Given the description of an element on the screen output the (x, y) to click on. 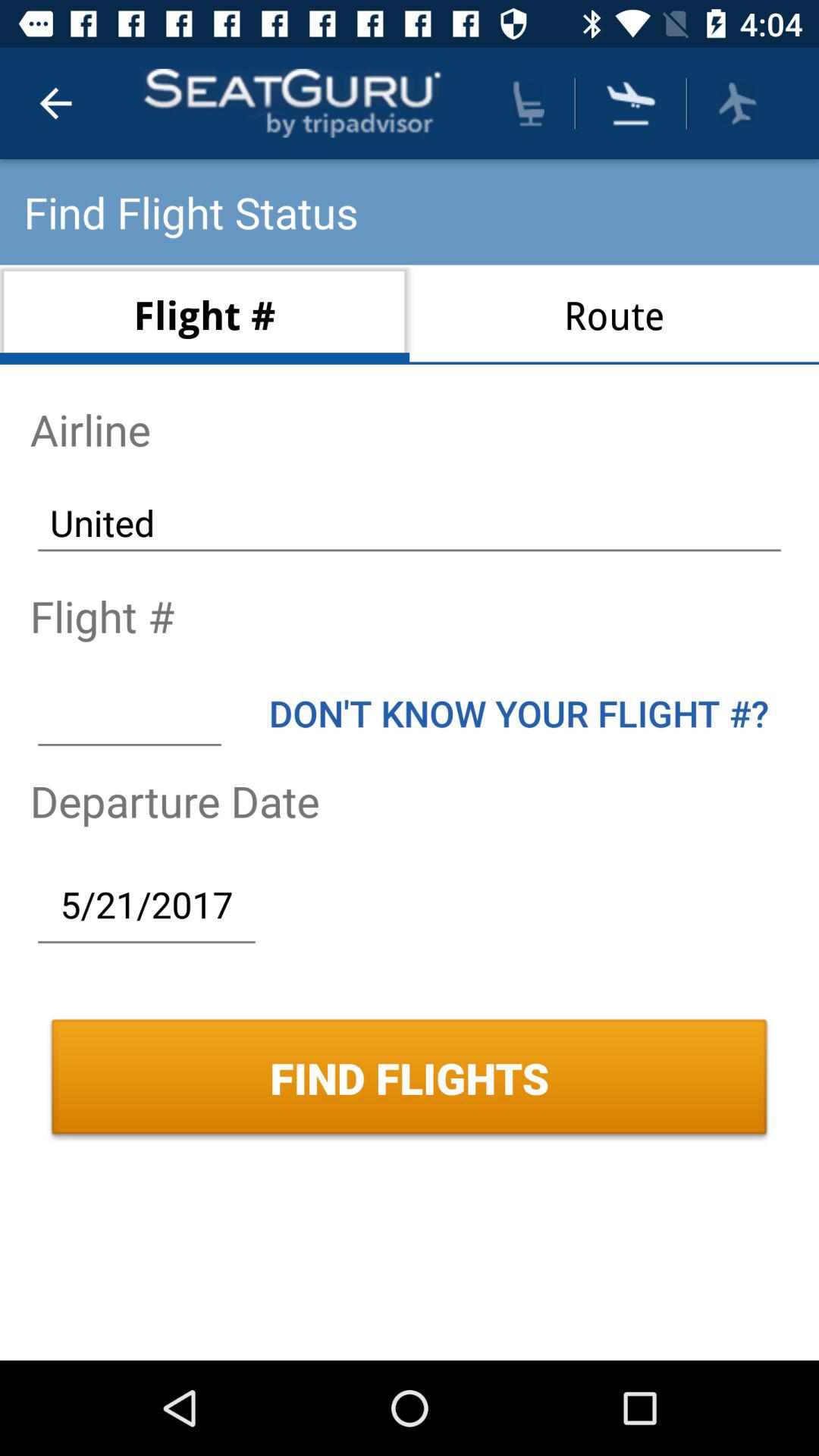
switch to train tab (528, 103)
